Given the description of an element on the screen output the (x, y) to click on. 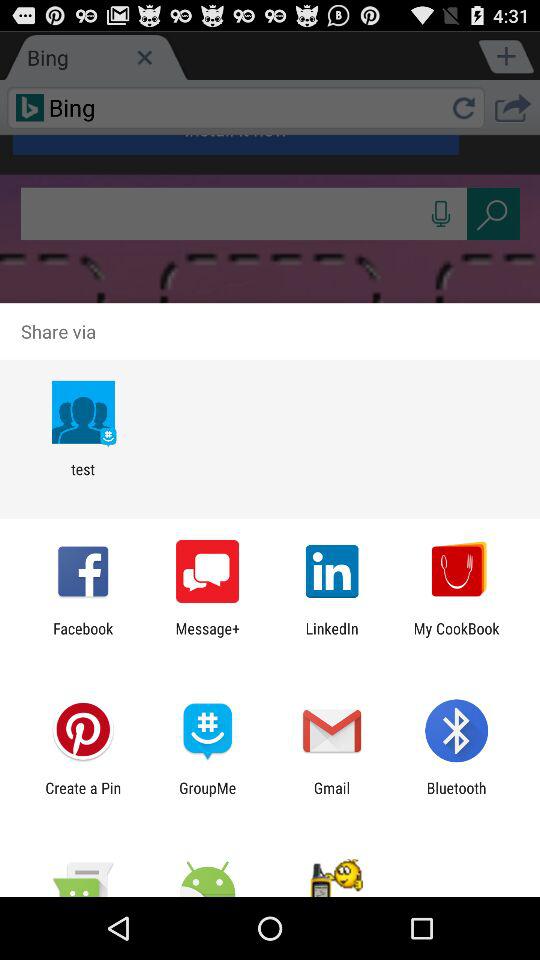
click the linkedin item (331, 637)
